Given the description of an element on the screen output the (x, y) to click on. 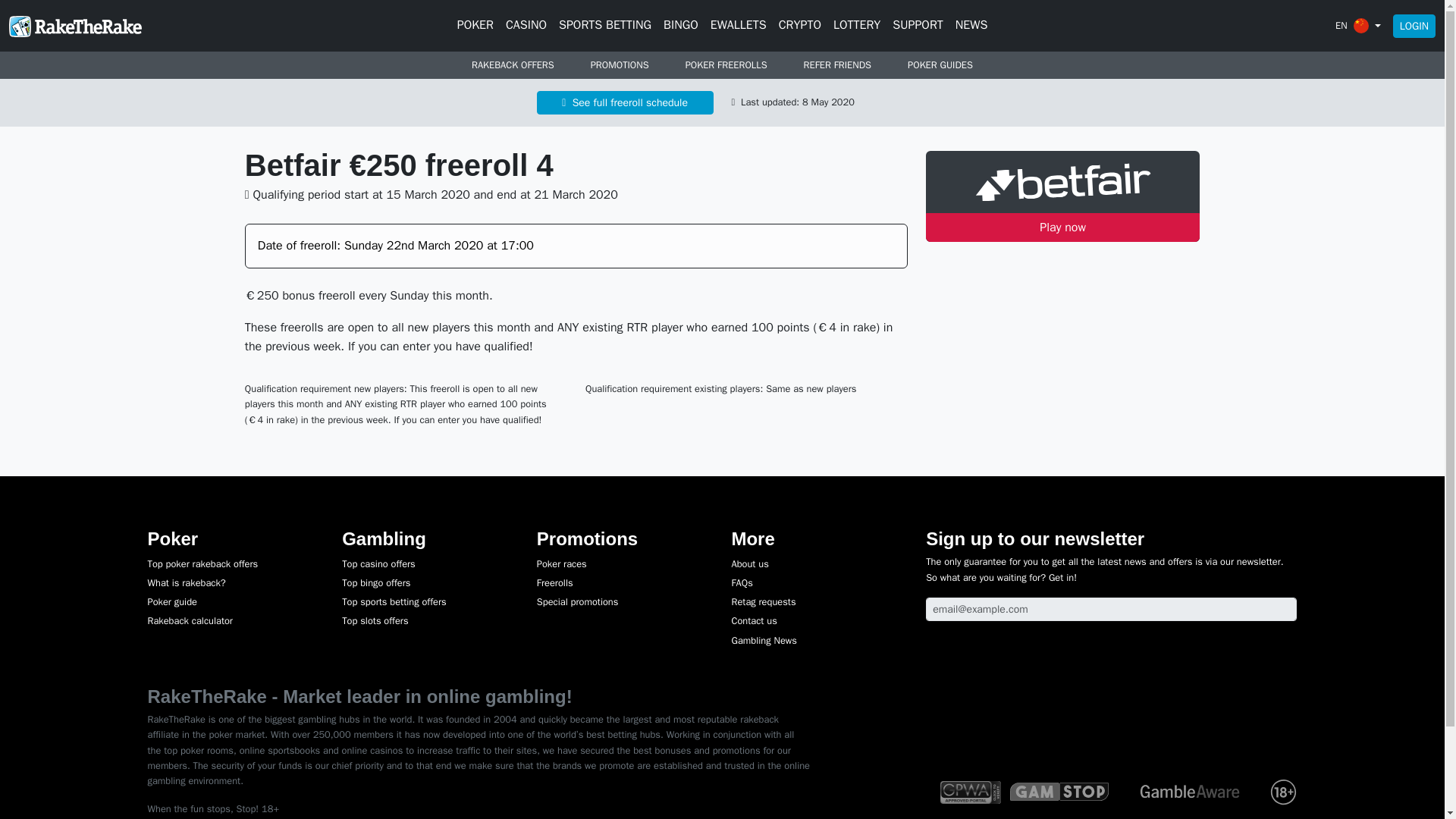
NEWS (971, 25)
Sports Betting (605, 25)
LOGIN (1414, 24)
Rakeback Offers (512, 64)
LOTTERY (856, 25)
EWALLETS (738, 25)
CASINO (526, 25)
Casino (526, 25)
POKER (475, 25)
Poker (475, 25)
REFER FRIENDS (837, 64)
eWallets (738, 25)
News (971, 25)
Lottery (856, 25)
Crypto (800, 25)
